Given the description of an element on the screen output the (x, y) to click on. 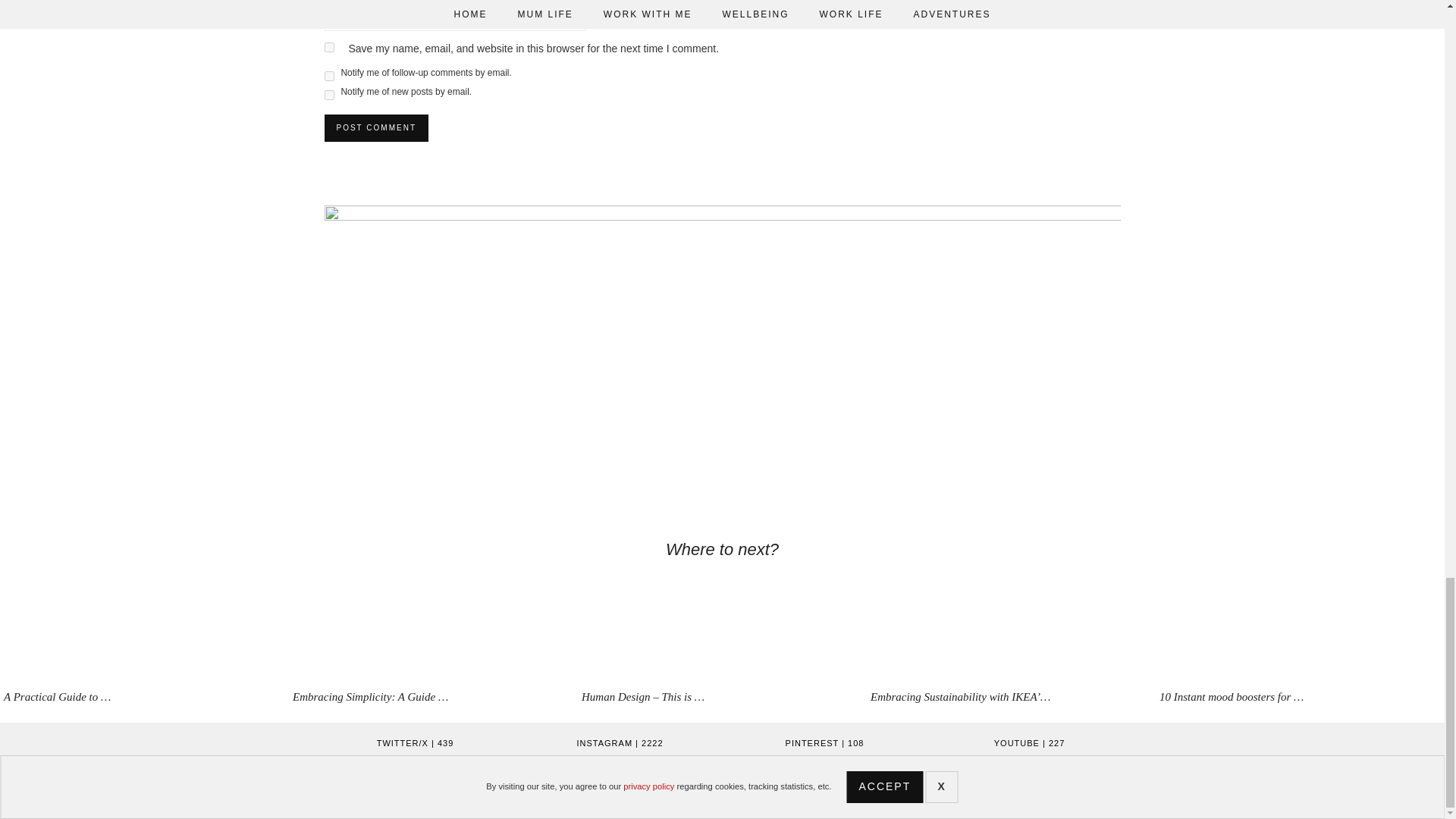
subscribe (329, 94)
yes (329, 47)
subscribe (329, 76)
Post Comment (376, 127)
